Given the description of an element on the screen output the (x, y) to click on. 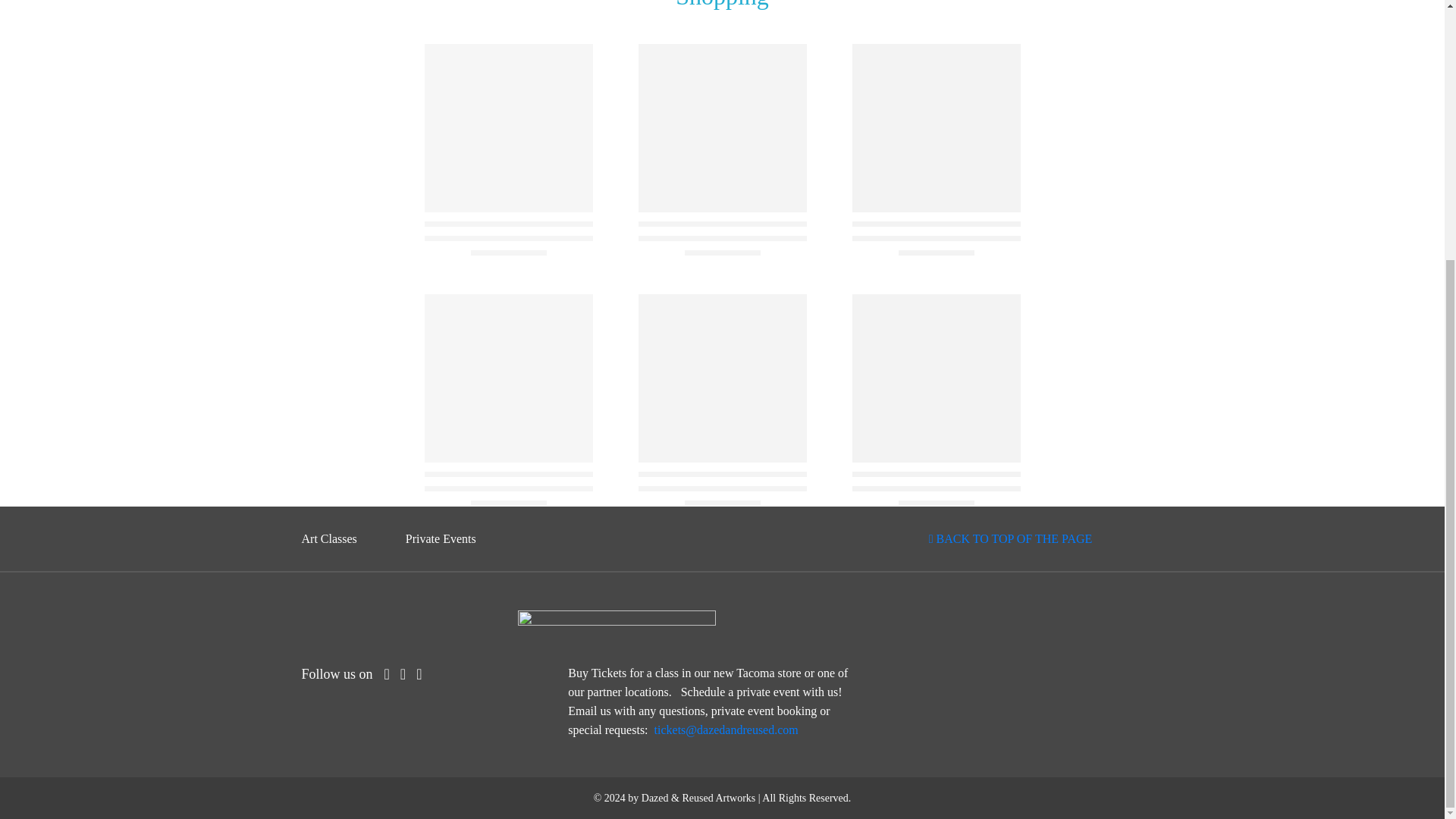
Art Classes (328, 538)
Private Events (441, 538)
BACK TO TOP OF THE PAGE (1010, 538)
